Given the description of an element on the screen output the (x, y) to click on. 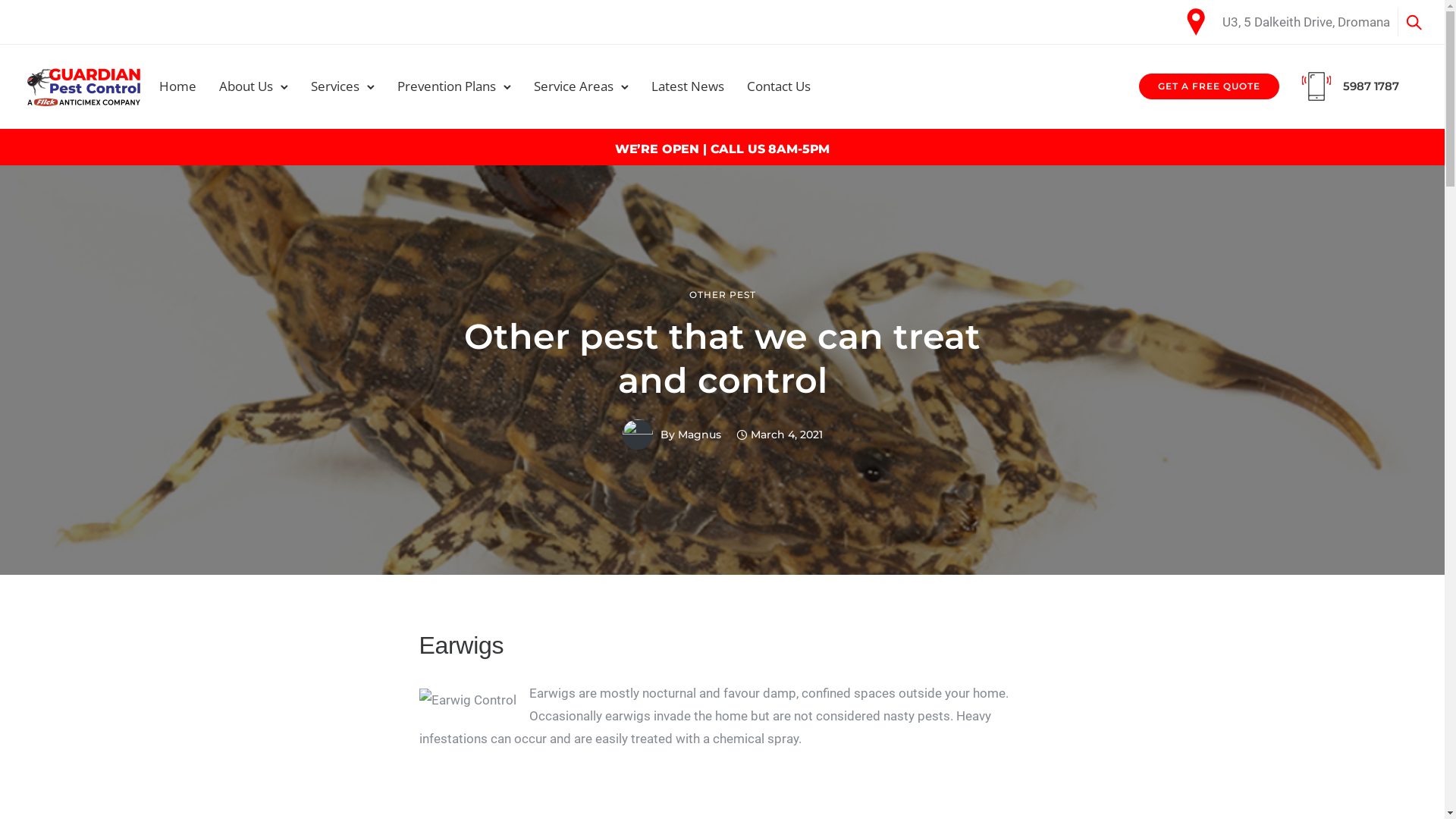
Other pest that we can treat and control Element type: text (721, 358)
OTHER PEST Element type: text (721, 294)
Service Areas Element type: text (573, 85)
Earwig Control Element type: hover (466, 699)
Prevention Plans Element type: text (446, 85)
5987 1787 Element type: text (1371, 85)
Latest News Element type: text (687, 85)
GET A FREE QUOTE Element type: text (1209, 86)
U3, 5 Dalkeith Drive, Dromana Element type: text (1306, 21)
Magnus Element type: text (699, 434)
March 4, 2021 Element type: text (778, 434)
Home Element type: text (177, 85)
About Us Element type: text (245, 85)
Services Element type: text (335, 85)
Contact Us Element type: text (778, 85)
